Given the description of an element on the screen output the (x, y) to click on. 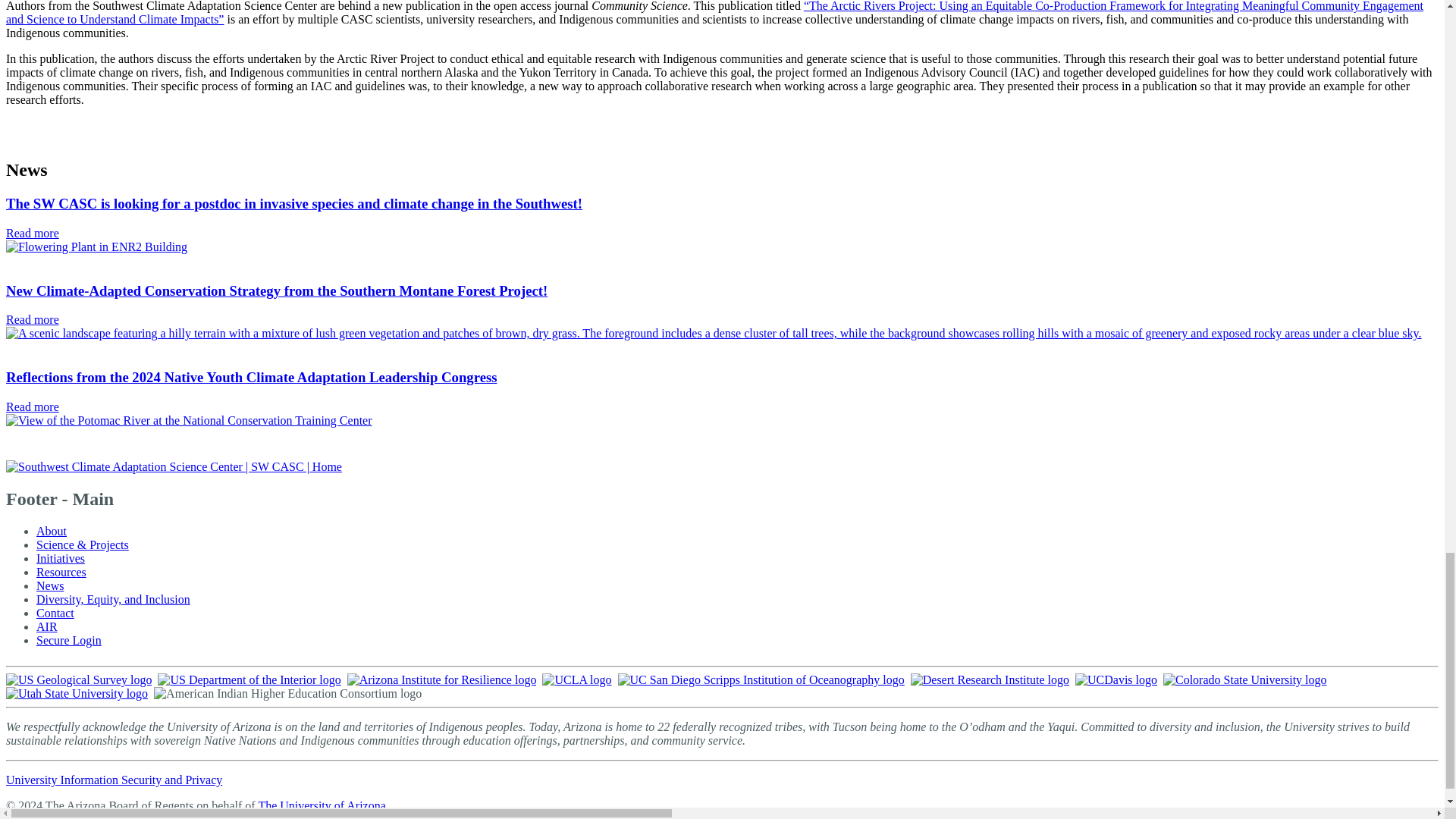
UCLA (576, 679)
UCDavis (1116, 679)
Colorado State University (1244, 679)
US Geological Survey (78, 679)
Desert Research Institute (989, 679)
Utah State University (76, 693)
UC San Diego Scripps (760, 679)
Arizona Institute for Resilience (442, 679)
US Department of the Interior (248, 679)
